Given the description of an element on the screen output the (x, y) to click on. 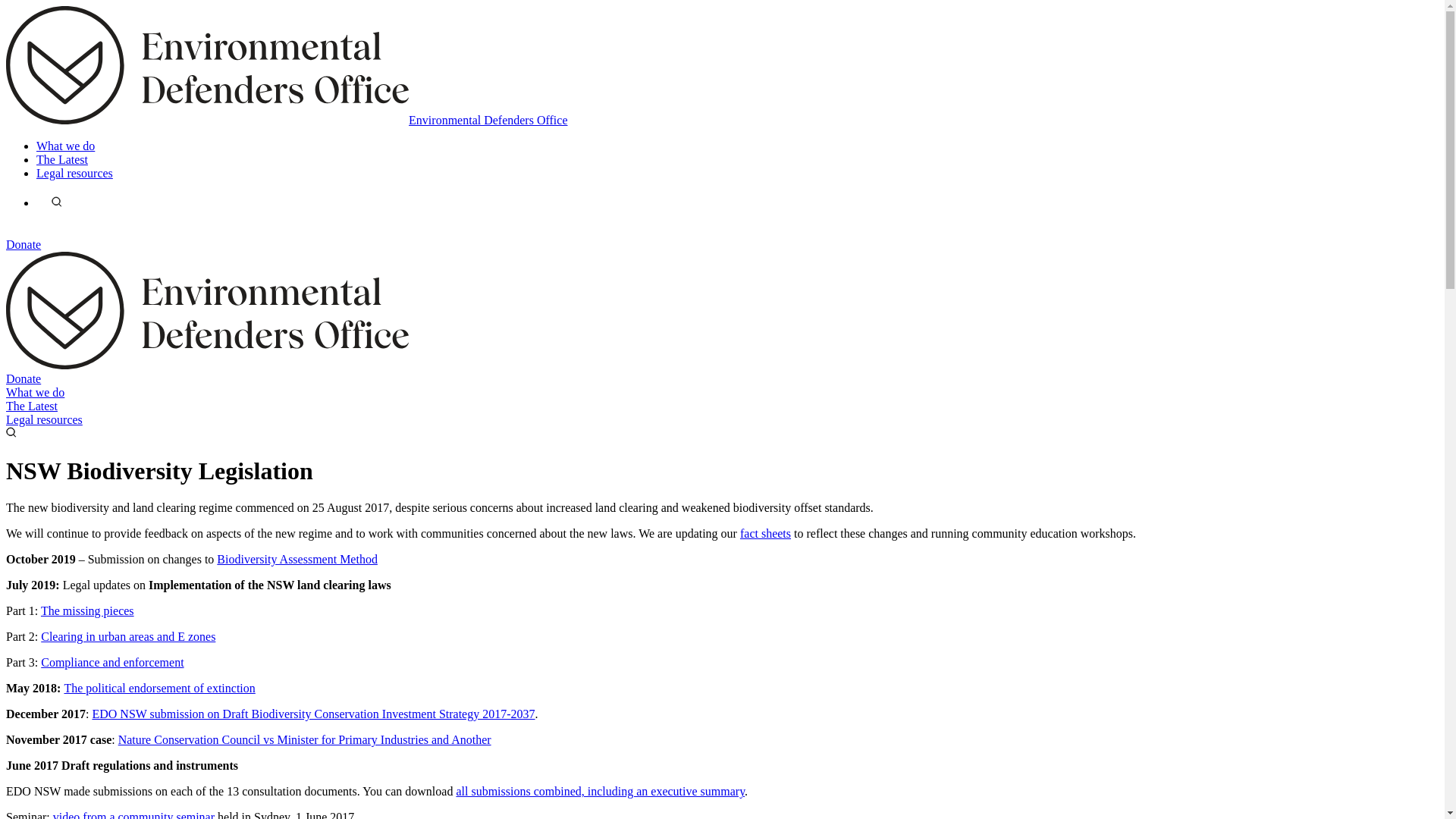
Clearing in urban areas and E zones Element type: text (127, 636)
The Latest Element type: text (31, 405)
Environmental Defenders Office Element type: text (286, 119)
Biodiversity Assessment Method Element type: text (296, 558)
The political endorsement of extinction Element type: text (158, 687)
Legal resources Element type: text (44, 419)
Donate Element type: text (23, 378)
Donate Element type: text (23, 244)
The Latest Element type: text (61, 159)
Compliance and enforcement Element type: text (111, 661)
What we do Element type: text (65, 145)
What we do Element type: text (35, 391)
The missing pieces Element type: text (87, 610)
all submissions combined, including an executive summary Element type: text (599, 790)
Legal resources Element type: text (74, 172)
fact sheets Element type: text (765, 533)
